Given the description of an element on the screen output the (x, y) to click on. 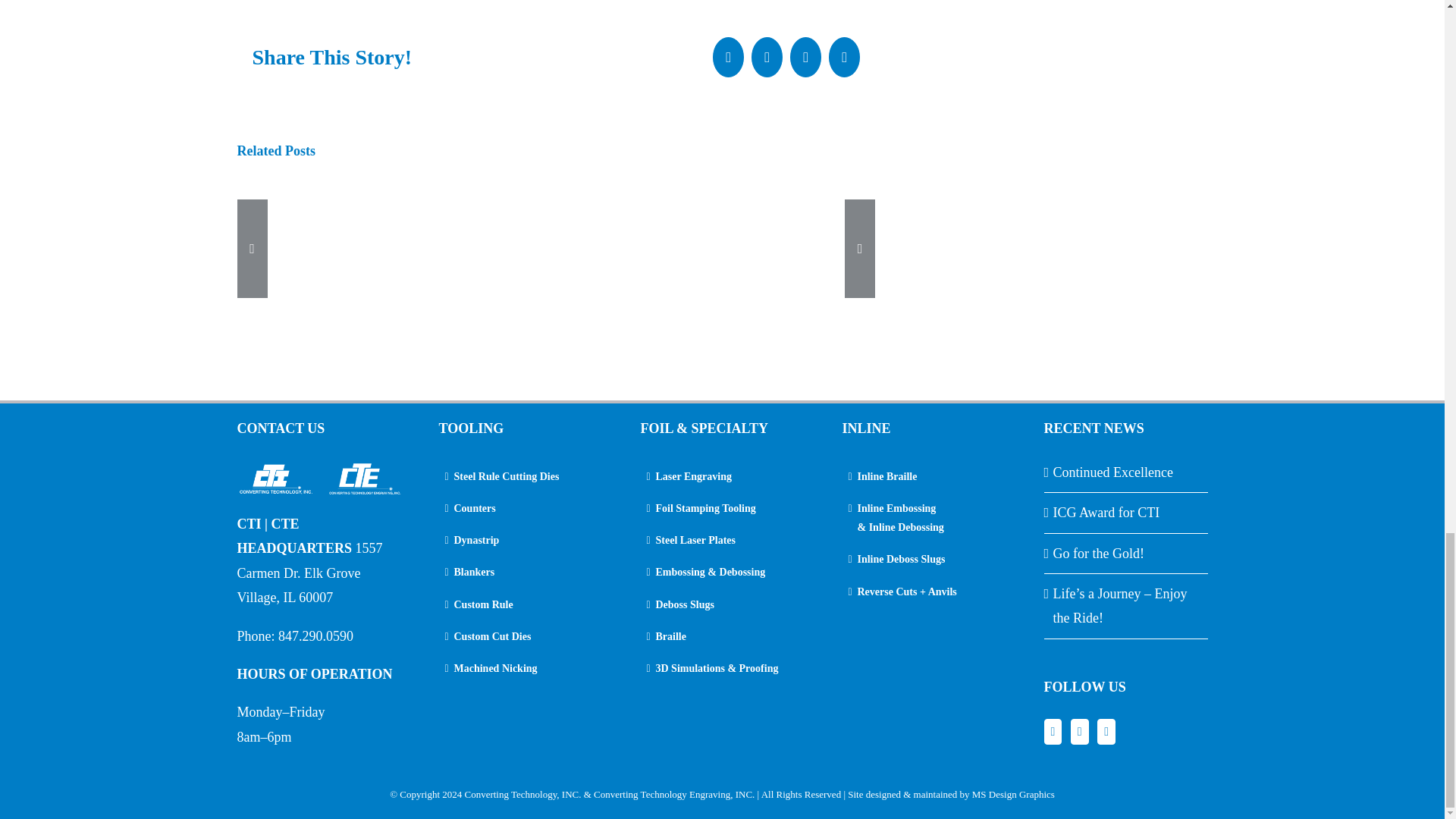
X (767, 56)
Email (844, 56)
LinkedIn (805, 56)
YouTube (1106, 731)
Facebook (728, 56)
Facebook (1052, 731)
LinkedIn (1079, 731)
